Given the description of an element on the screen output the (x, y) to click on. 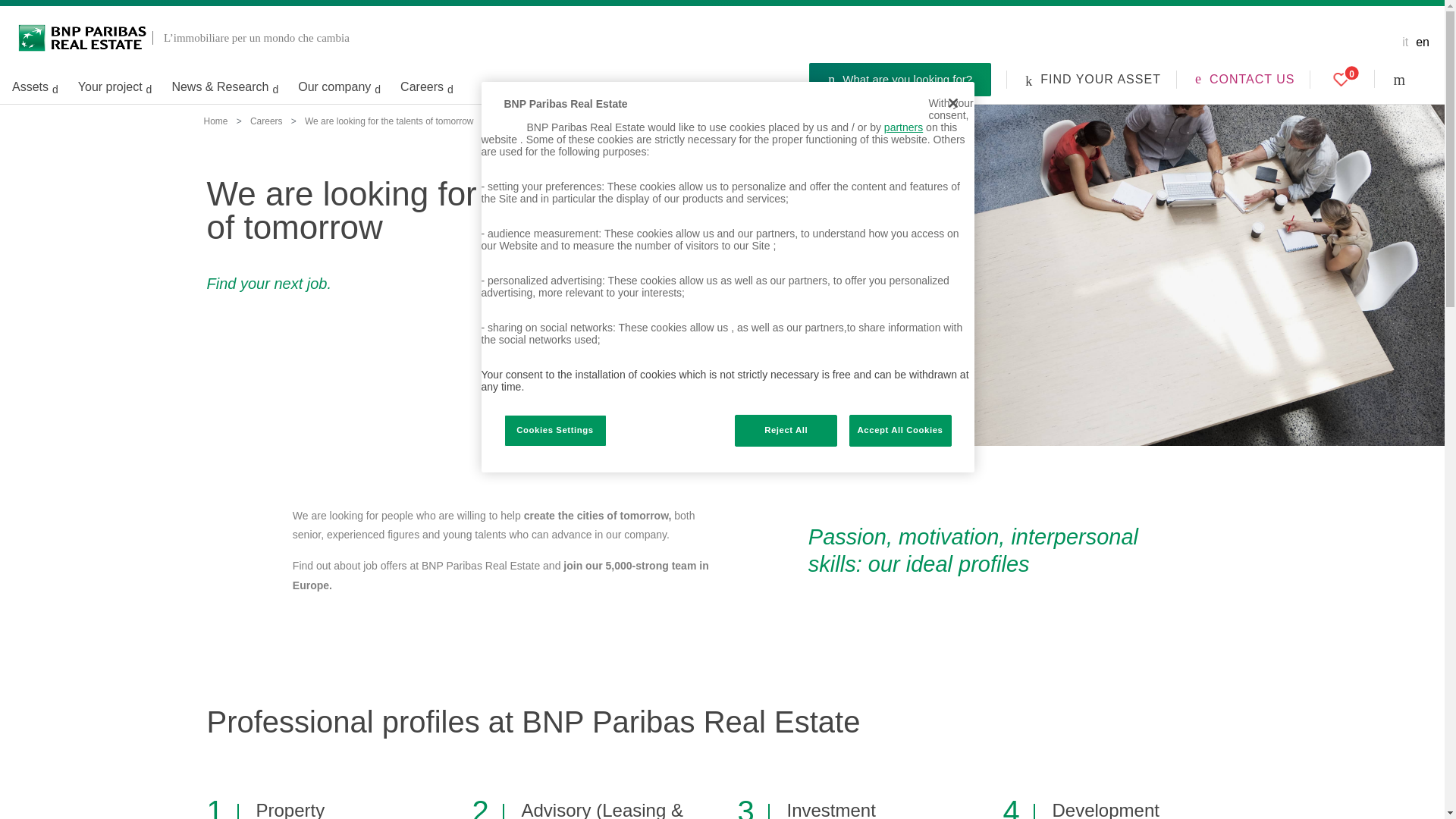
en (1422, 42)
FIND YOUR ASSET (1092, 79)
What are you looking for? (900, 80)
it (1404, 42)
CONTACT US (1245, 79)
WHAT ARE YOU LOOKING FOR? (1412, 79)
0 (1340, 79)
